Given the description of an element on the screen output the (x, y) to click on. 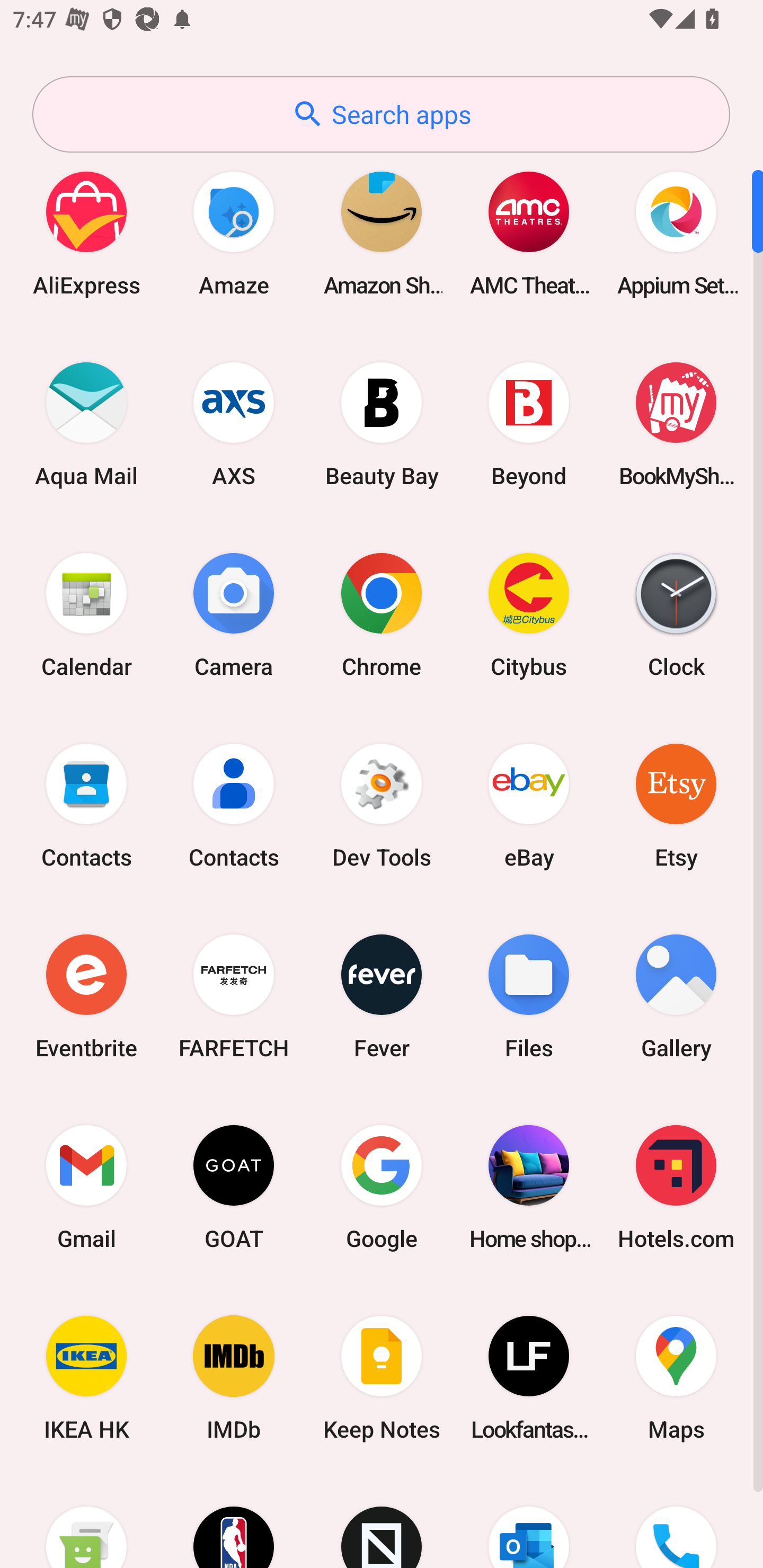
  Search apps (381, 114)
AliExpress (86, 233)
Amaze (233, 233)
Amazon Shopping (381, 233)
AMC Theatres (528, 233)
Appium Settings (676, 233)
Aqua Mail (86, 424)
AXS (233, 424)
Beauty Bay (381, 424)
Beyond (528, 424)
BookMyShow (676, 424)
Calendar (86, 614)
Camera (233, 614)
Chrome (381, 614)
Citybus (528, 614)
Clock (676, 614)
Contacts (86, 805)
Contacts (233, 805)
Dev Tools (381, 805)
eBay (528, 805)
Etsy (676, 805)
Eventbrite (86, 996)
FARFETCH (233, 996)
Fever (381, 996)
Files (528, 996)
Gallery (676, 996)
Gmail (86, 1186)
GOAT (233, 1186)
Google (381, 1186)
Home shopping (528, 1186)
Hotels.com (676, 1186)
IKEA HK (86, 1377)
IMDb (233, 1377)
Keep Notes (381, 1377)
Lookfantastic (528, 1377)
Maps (676, 1377)
